Given the description of an element on the screen output the (x, y) to click on. 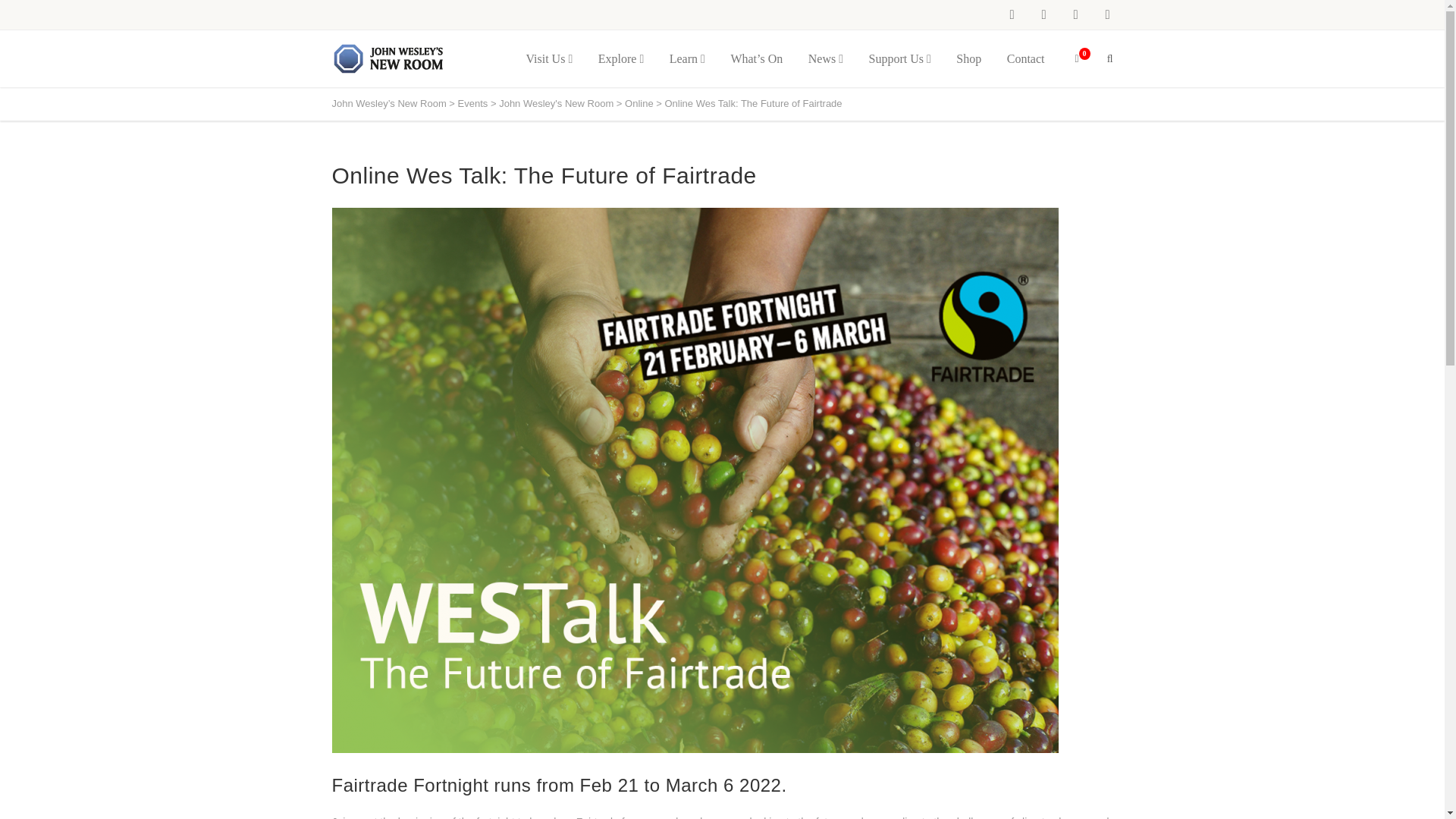
Go to the John Wesley's New Room Venues archives. (555, 102)
Go to the Online Venues archives. (638, 102)
Go to Events. (472, 102)
